Given the description of an element on the screen output the (x, y) to click on. 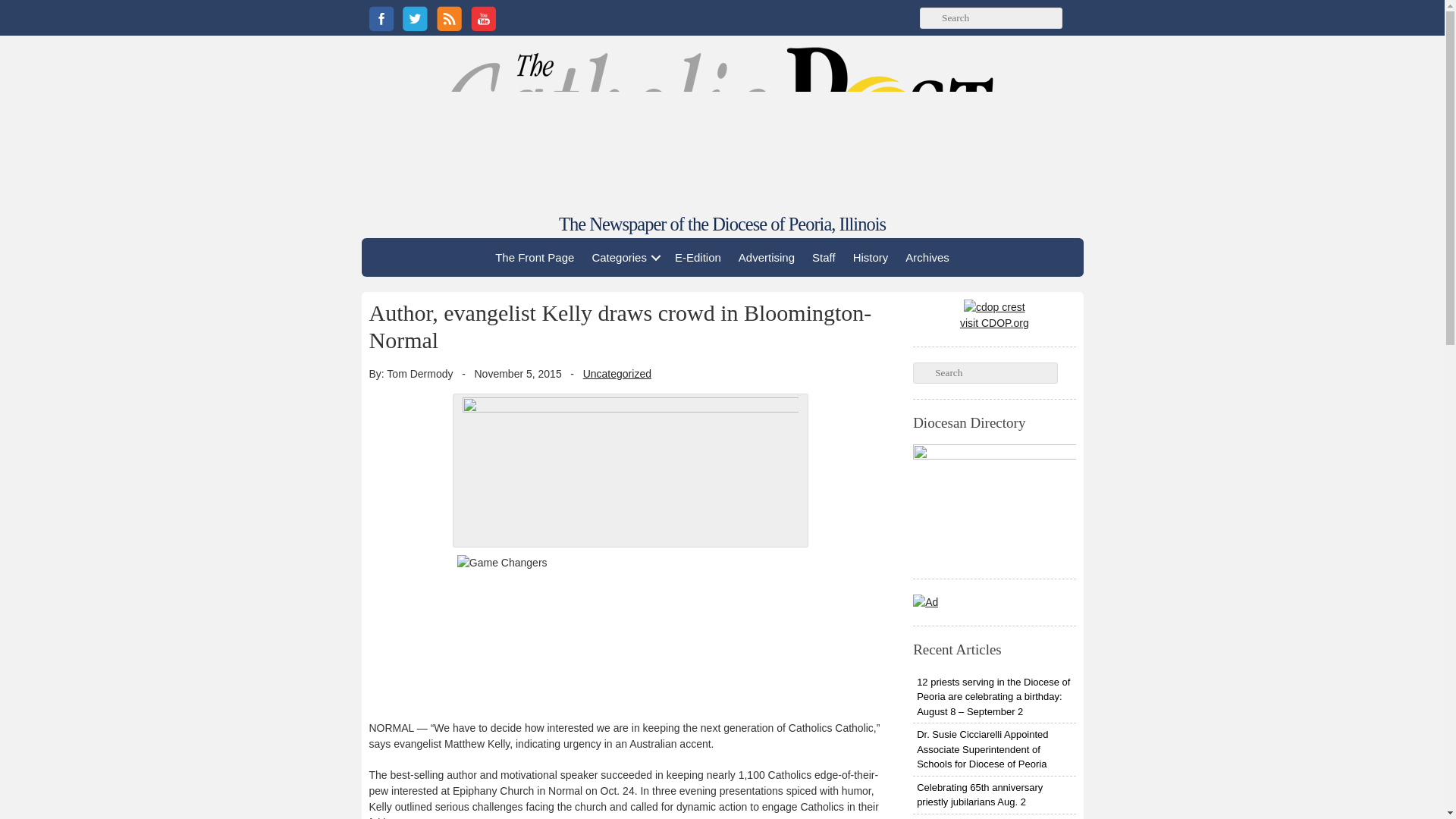
visit CDOP.org (994, 315)
Diocesan Directory (993, 503)
Archives (927, 257)
Uncategorized (616, 373)
The Front Page (534, 257)
visit CDOP.org (994, 315)
Celebrating 65th anniversary priestly jubilarians Aug. 2 (993, 795)
Advertising (766, 257)
Categories (624, 257)
